Given the description of an element on the screen output the (x, y) to click on. 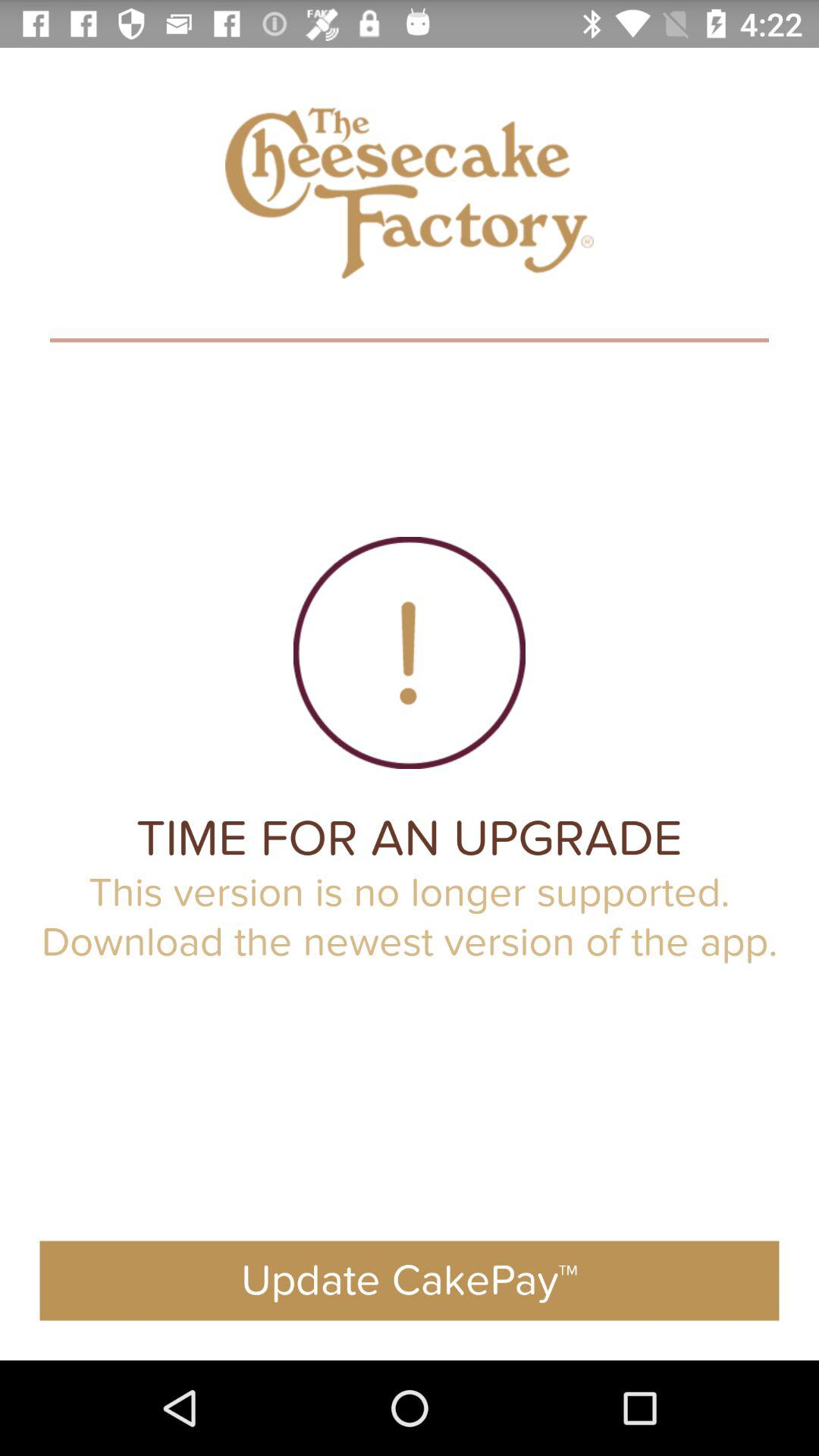
choose app at the bottom (409, 1280)
